Given the description of an element on the screen output the (x, y) to click on. 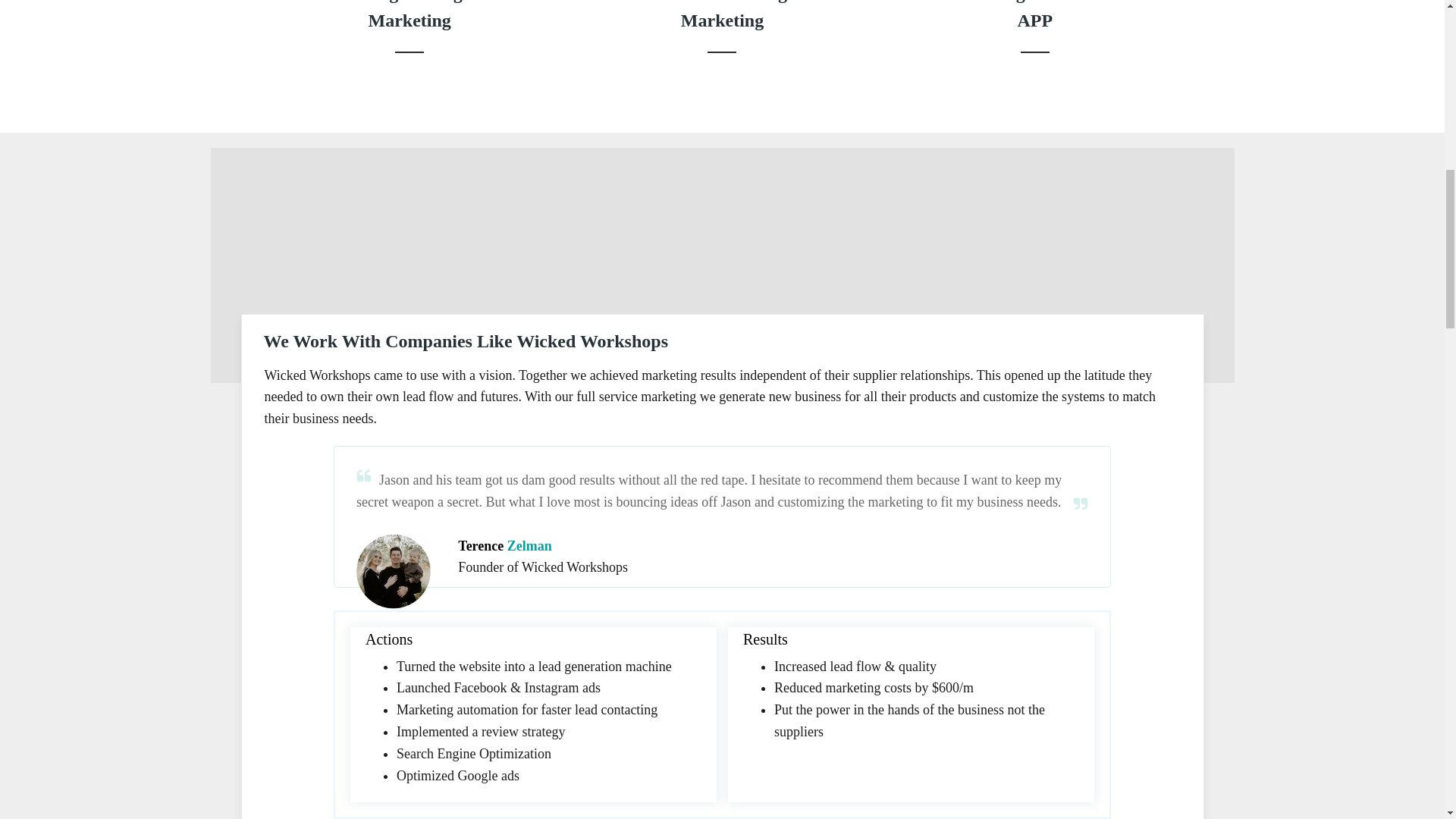
Terrence (393, 571)
